Given the description of an element on the screen output the (x, y) to click on. 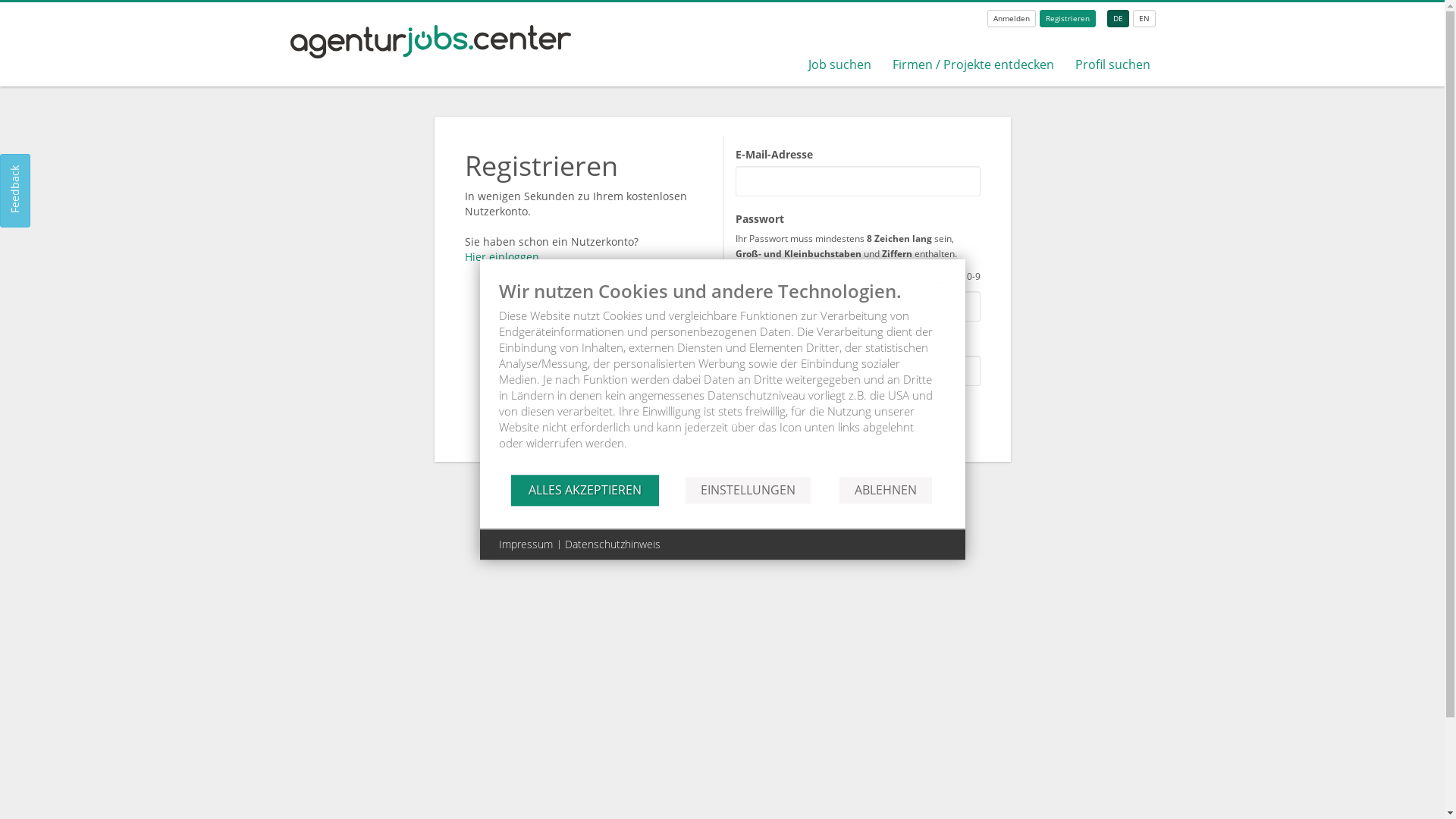
Hier einloggen Element type: text (501, 256)
EINSTELLUNGEN Element type: text (747, 489)
Datenschutzhinweis Element type: text (611, 544)
Impressum Element type: text (525, 544)
Registrieren Element type: text (1067, 18)
Agentur Job Center Element type: text (430, 54)
Firmen / Projekte entdecken Element type: text (972, 64)
Profil suchen Element type: text (1112, 64)
Jetzt kostenlos registrieren Element type: text (814, 416)
Anmelden Element type: text (1011, 18)
ABLEHNEN Element type: text (885, 489)
Feedback Element type: text (36, 168)
ALLES AKZEPTIEREN Element type: text (584, 489)
Job suchen Element type: text (839, 64)
DE Element type: text (1118, 18)
EN Element type: text (1143, 18)
